Given the description of an element on the screen output the (x, y) to click on. 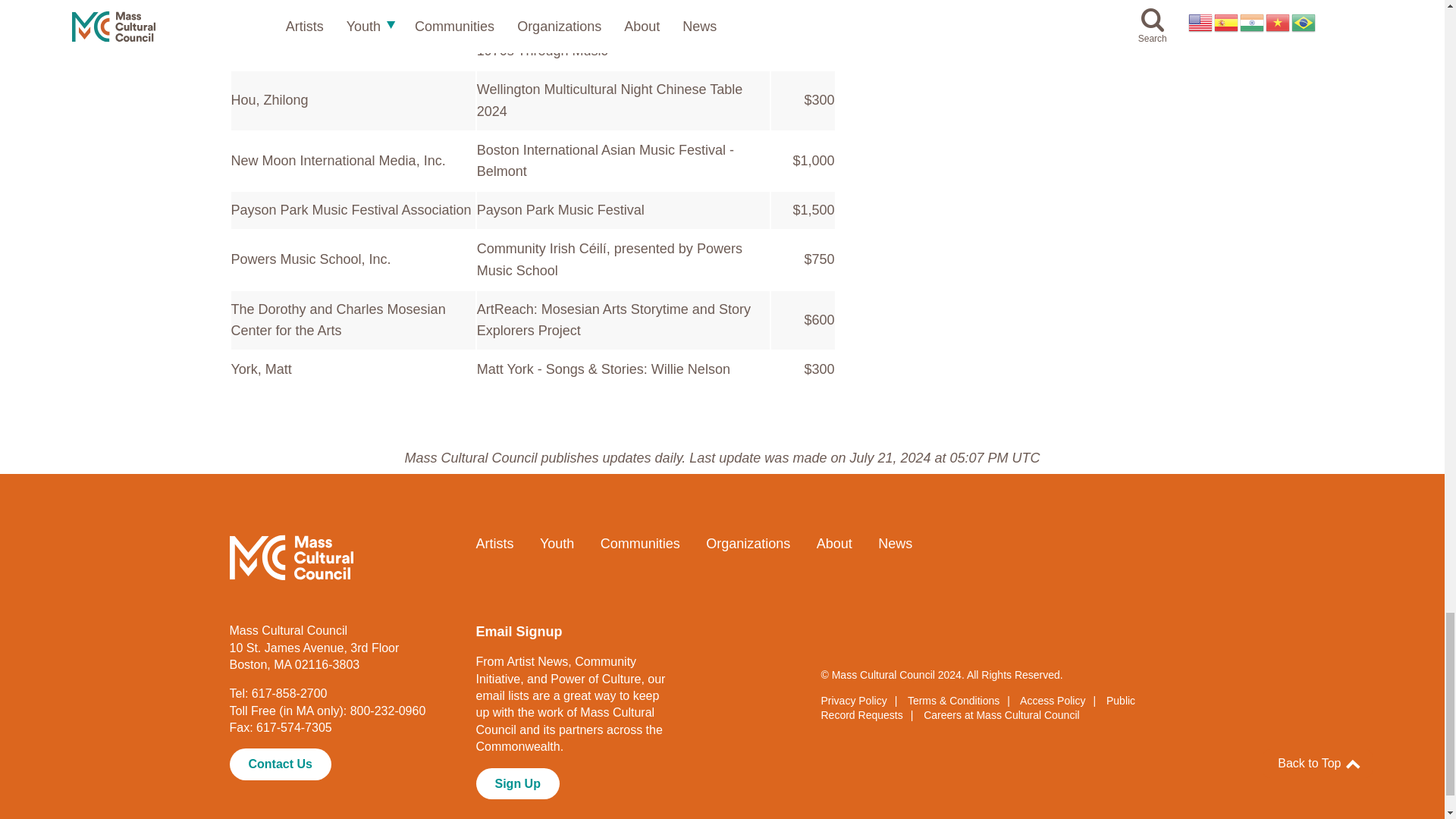
News (894, 543)
Communities (639, 543)
About (833, 543)
Youth (556, 543)
Organizations (748, 543)
Artists (494, 543)
Contact Us (279, 764)
